Given the description of an element on the screen output the (x, y) to click on. 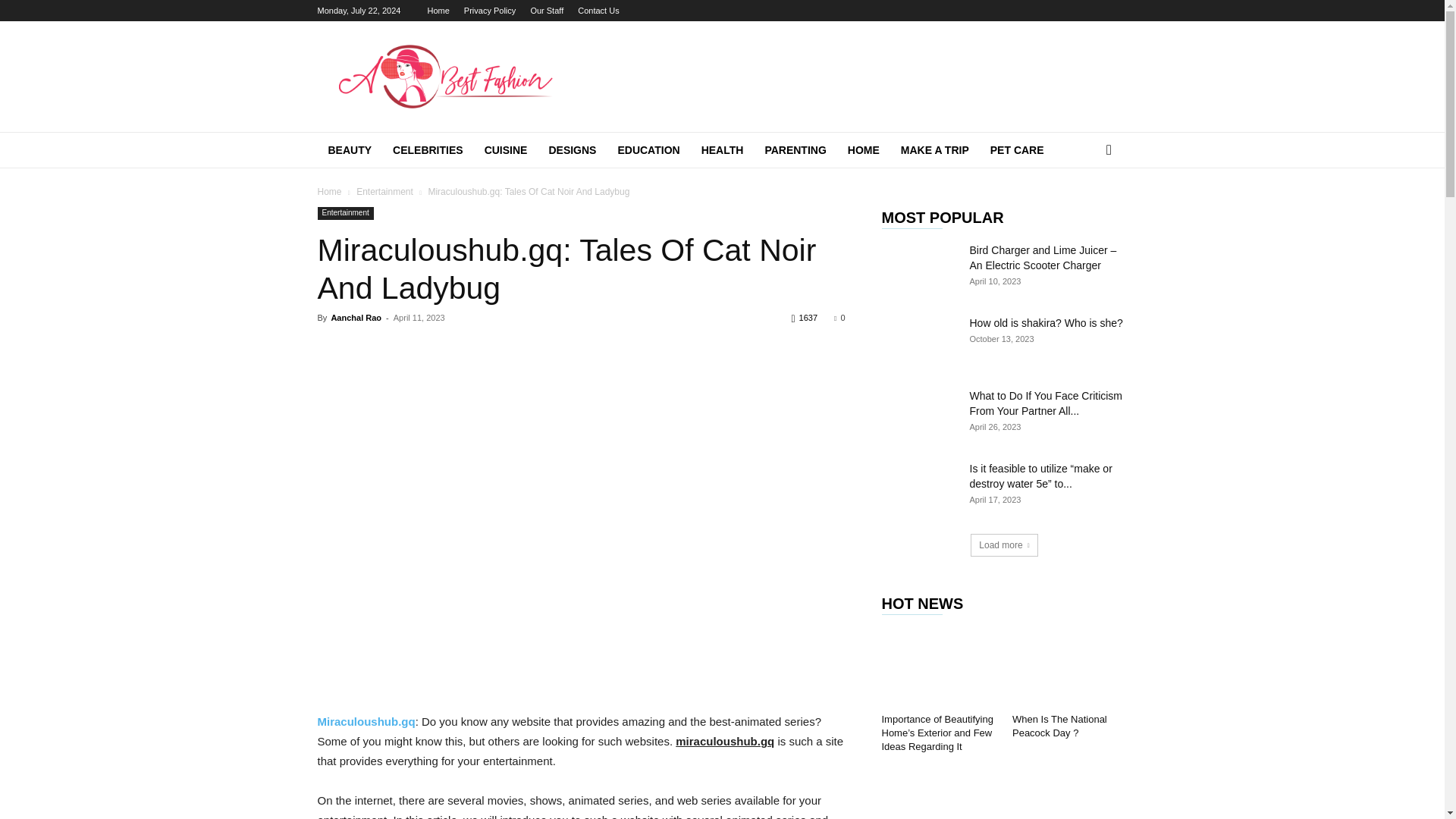
Miraculoushub.gq (365, 721)
View all posts in Entertainment (384, 191)
